Given the description of an element on the screen output the (x, y) to click on. 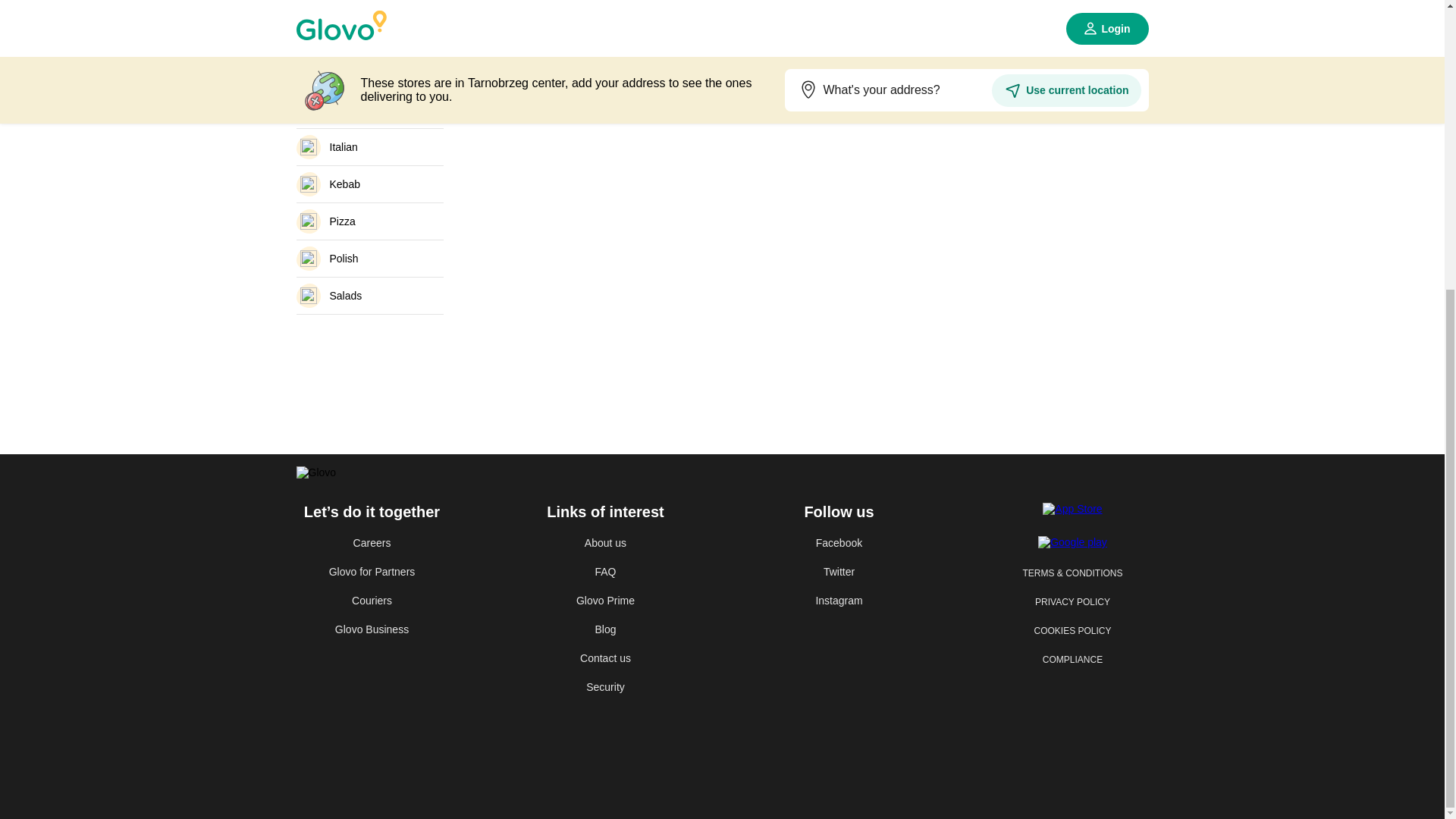
Security (605, 686)
European (368, 109)
Pizza (368, 221)
Glovo Business (370, 629)
Drinks (368, 72)
Glovo for Partners (370, 571)
COOKIES POLICY (1071, 631)
Couriers (370, 600)
Blog (605, 629)
Polish (368, 258)
